Given the description of an element on the screen output the (x, y) to click on. 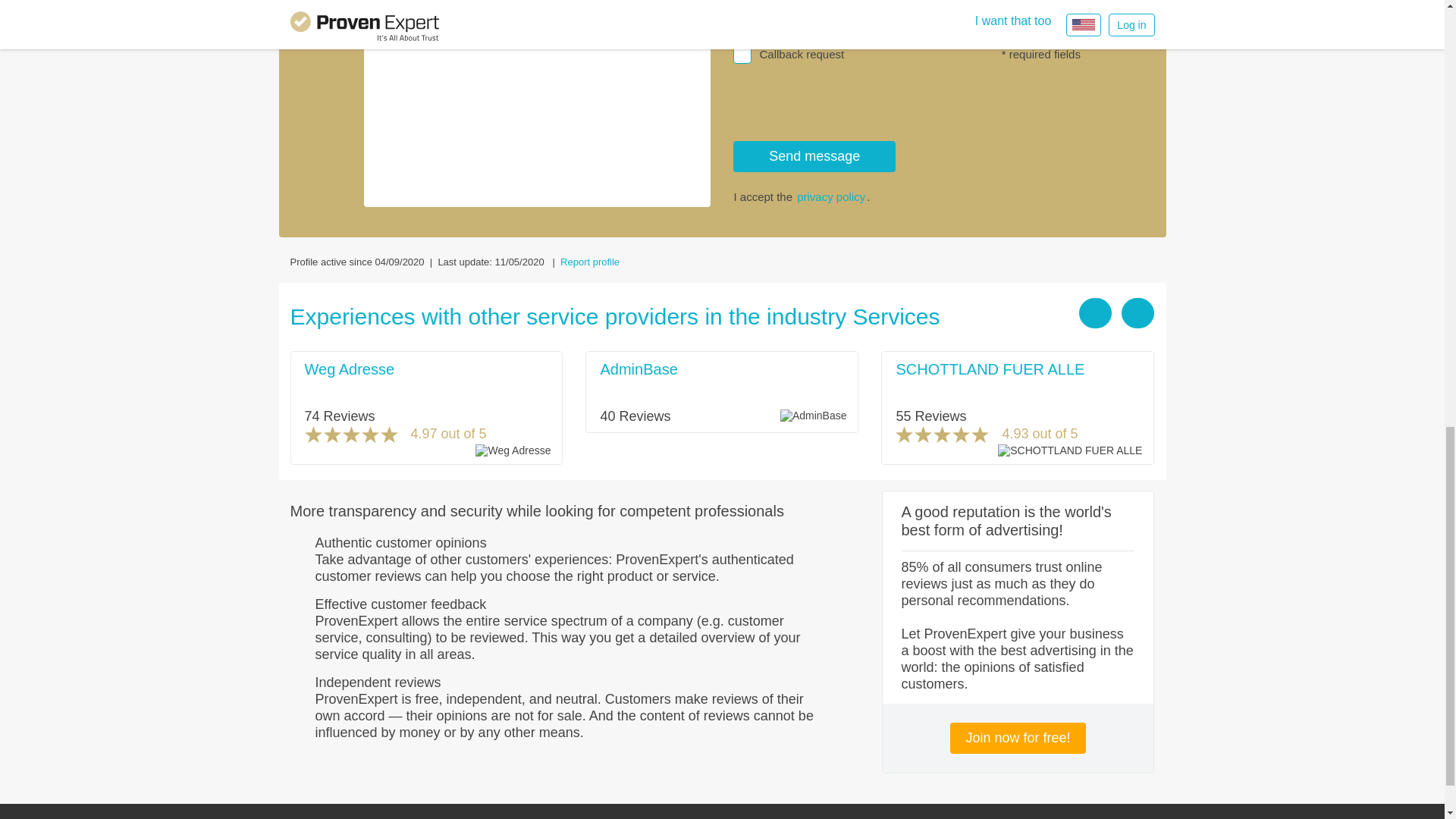
Weg Adresse (349, 369)
Report profile (590, 261)
Send message (814, 155)
privacy policy (830, 196)
